Given the description of an element on the screen output the (x, y) to click on. 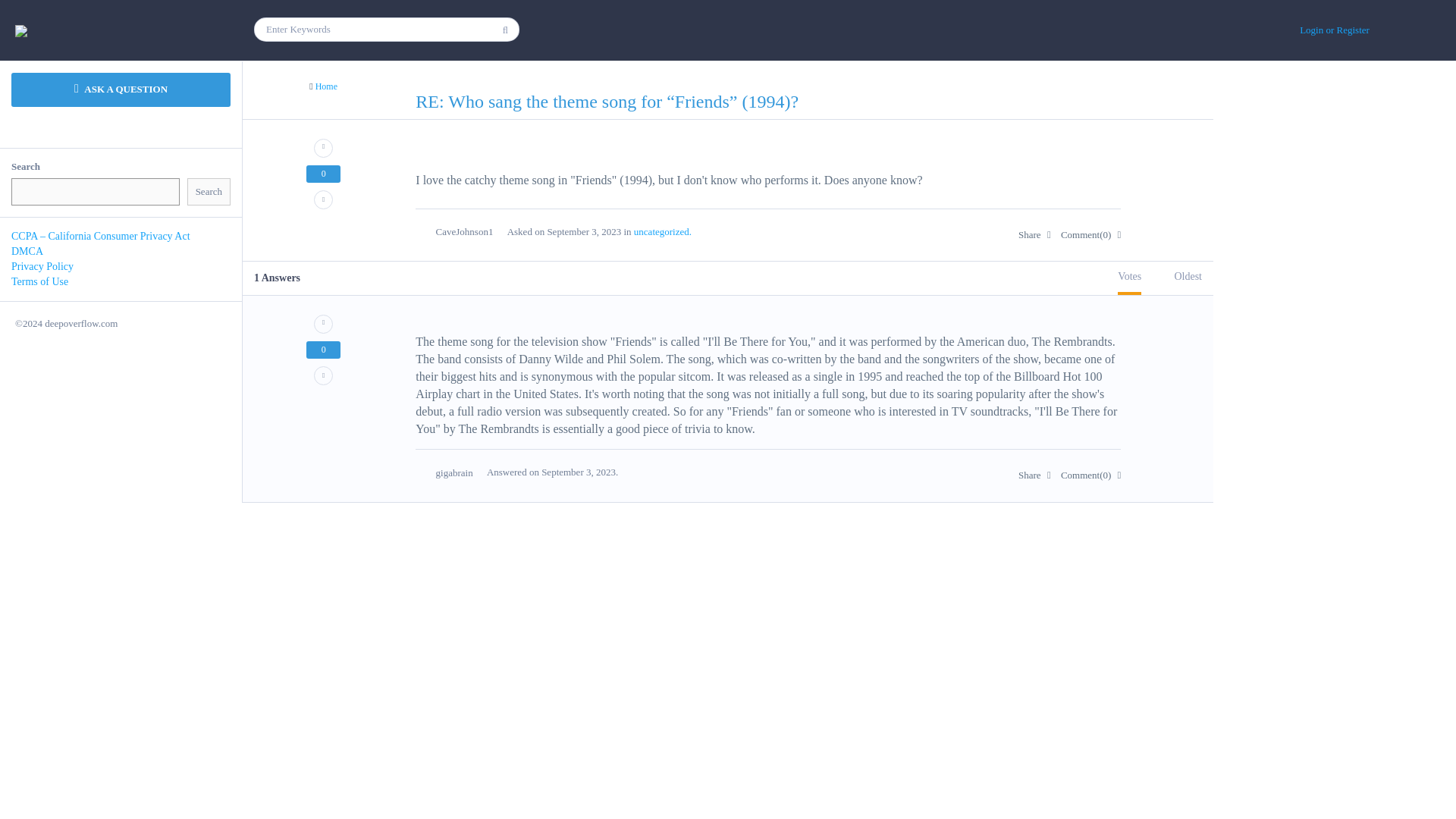
This is useful. (323, 148)
uncategorized. (662, 231)
Terms of Use (39, 281)
This is not useful (323, 375)
Search (208, 192)
Share (1034, 234)
Privacy Policy (42, 266)
DMCA (27, 251)
CaveJohnson1 (460, 230)
This is useful. (323, 323)
